Given the description of an element on the screen output the (x, y) to click on. 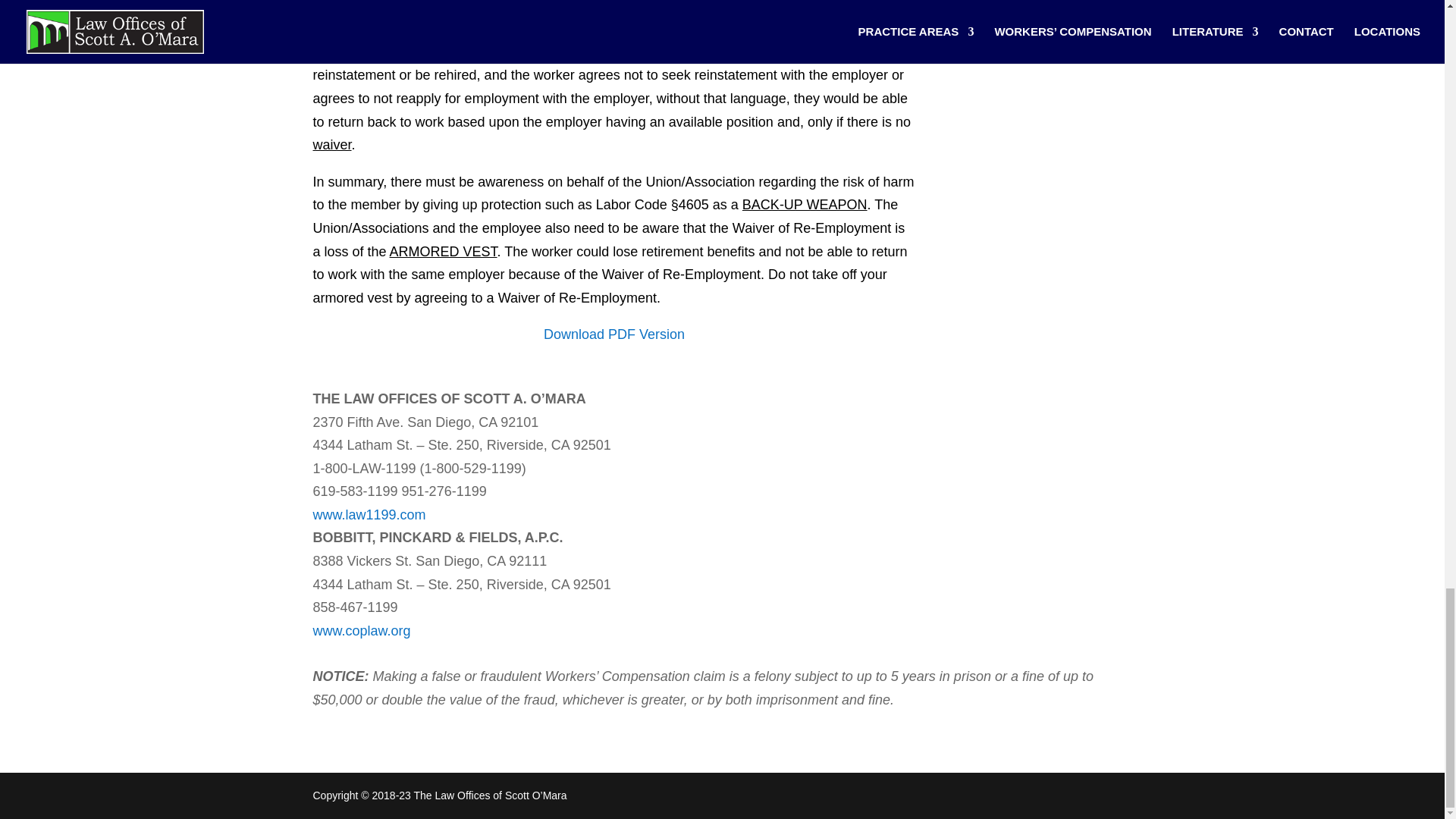
www.law1199.com (369, 514)
www.coplaw.org (361, 630)
Download PDF Version (613, 334)
